Given the description of an element on the screen output the (x, y) to click on. 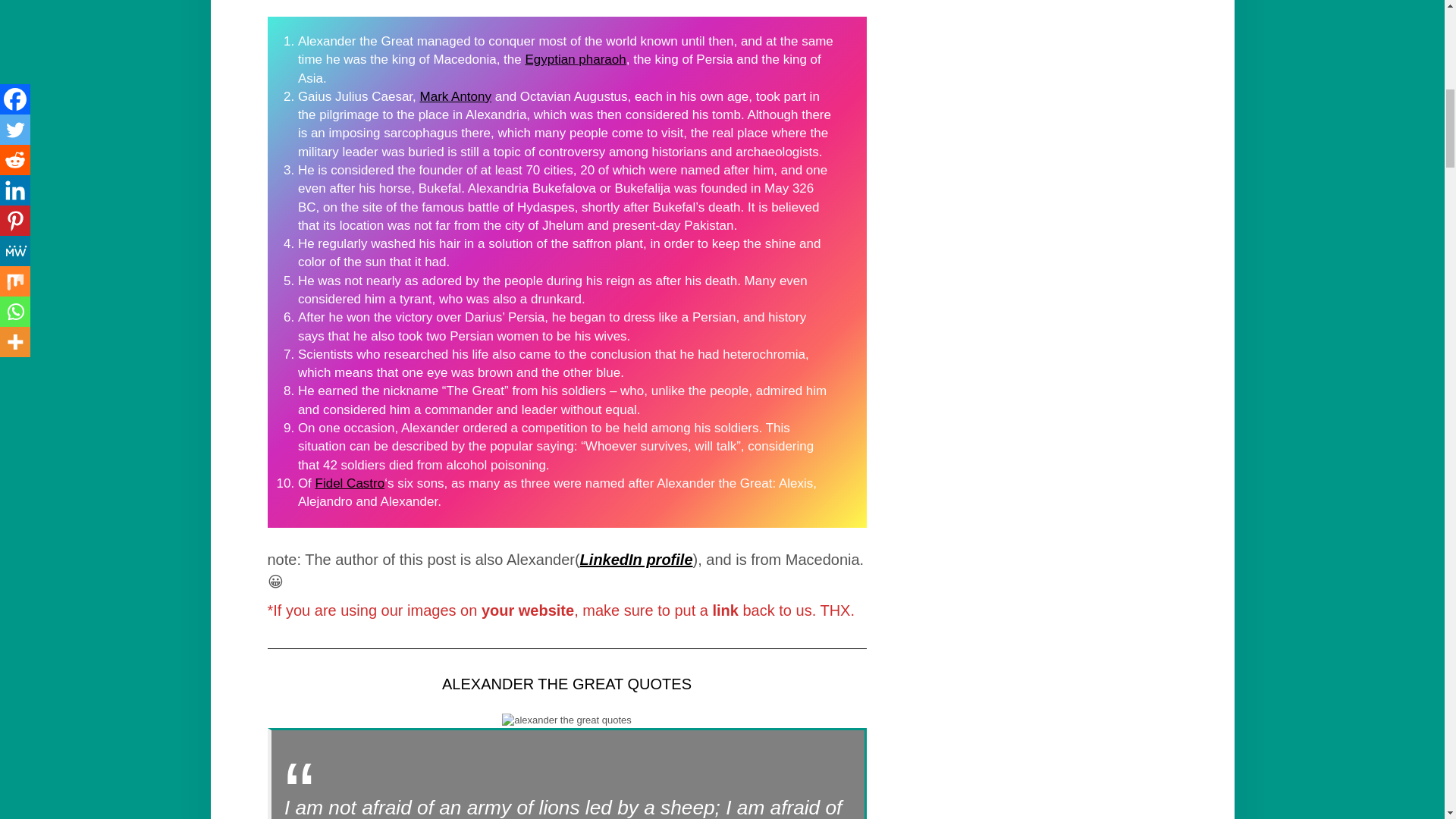
LinkedIn profile (636, 559)
Mark Antony (456, 96)
Egyptian pharaoh (575, 59)
Fidel Castro (350, 482)
